Given the description of an element on the screen output the (x, y) to click on. 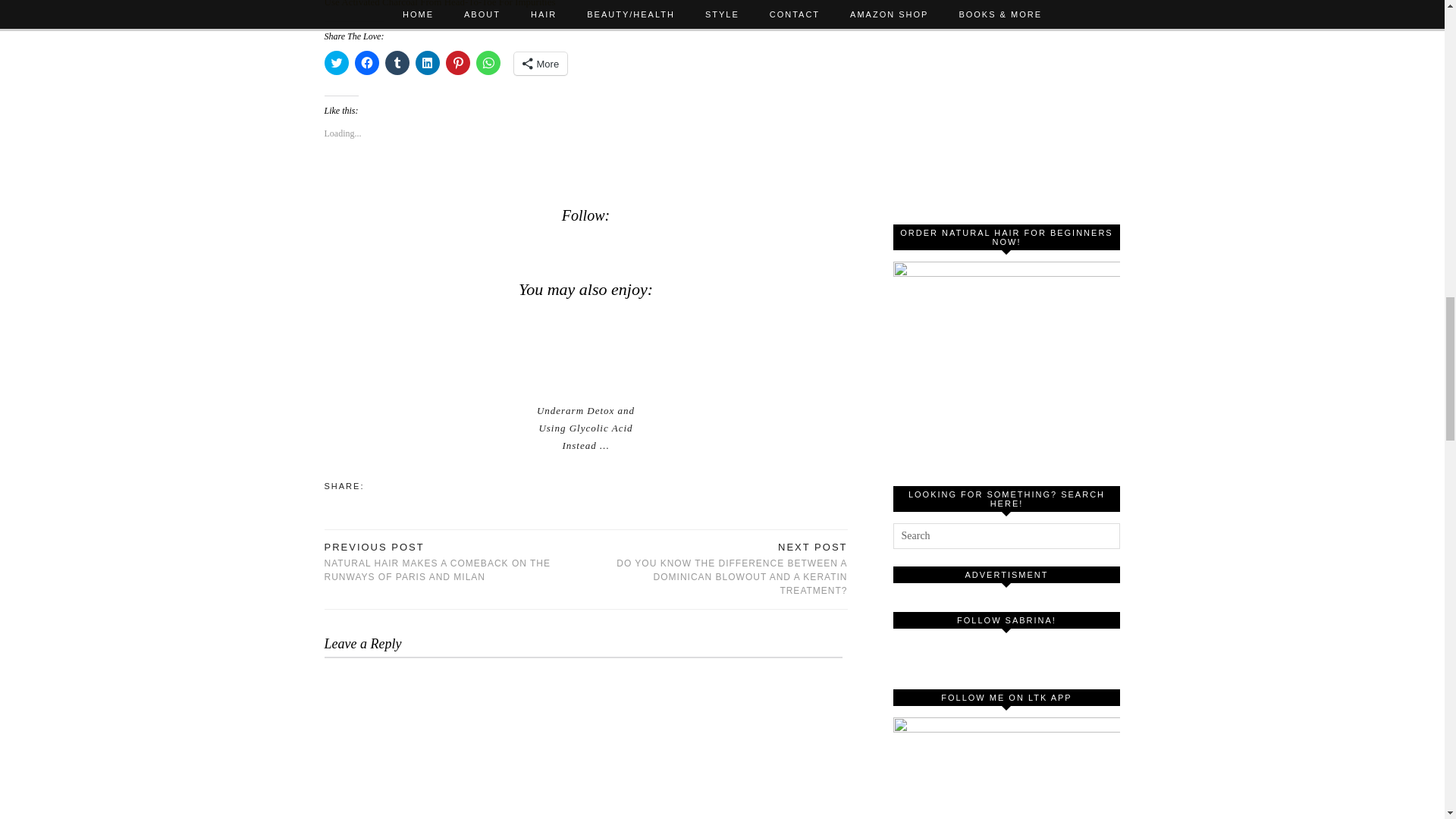
Click to share on Tumblr (397, 62)
Click to share on Pinterest (457, 62)
Click to share on Twitter (336, 62)
Click to share on WhatsApp (488, 62)
Click to share on LinkedIn (426, 62)
Click to share on Facebook (366, 62)
